Given the description of an element on the screen output the (x, y) to click on. 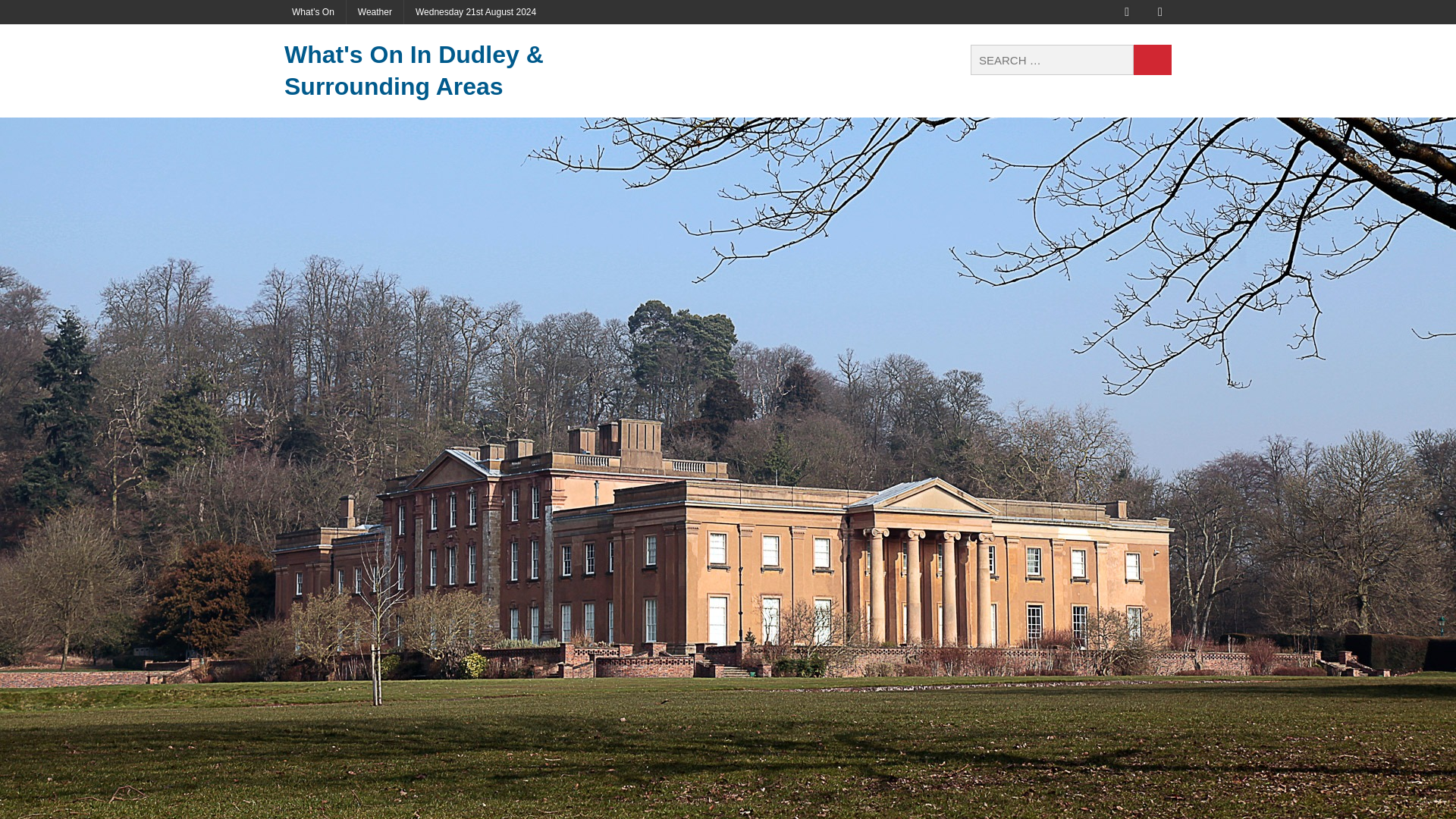
Search (1153, 60)
Search (1153, 60)
Weather (374, 12)
Wednesday 21st August 2024 (475, 12)
Search (1153, 60)
